Given the description of an element on the screen output the (x, y) to click on. 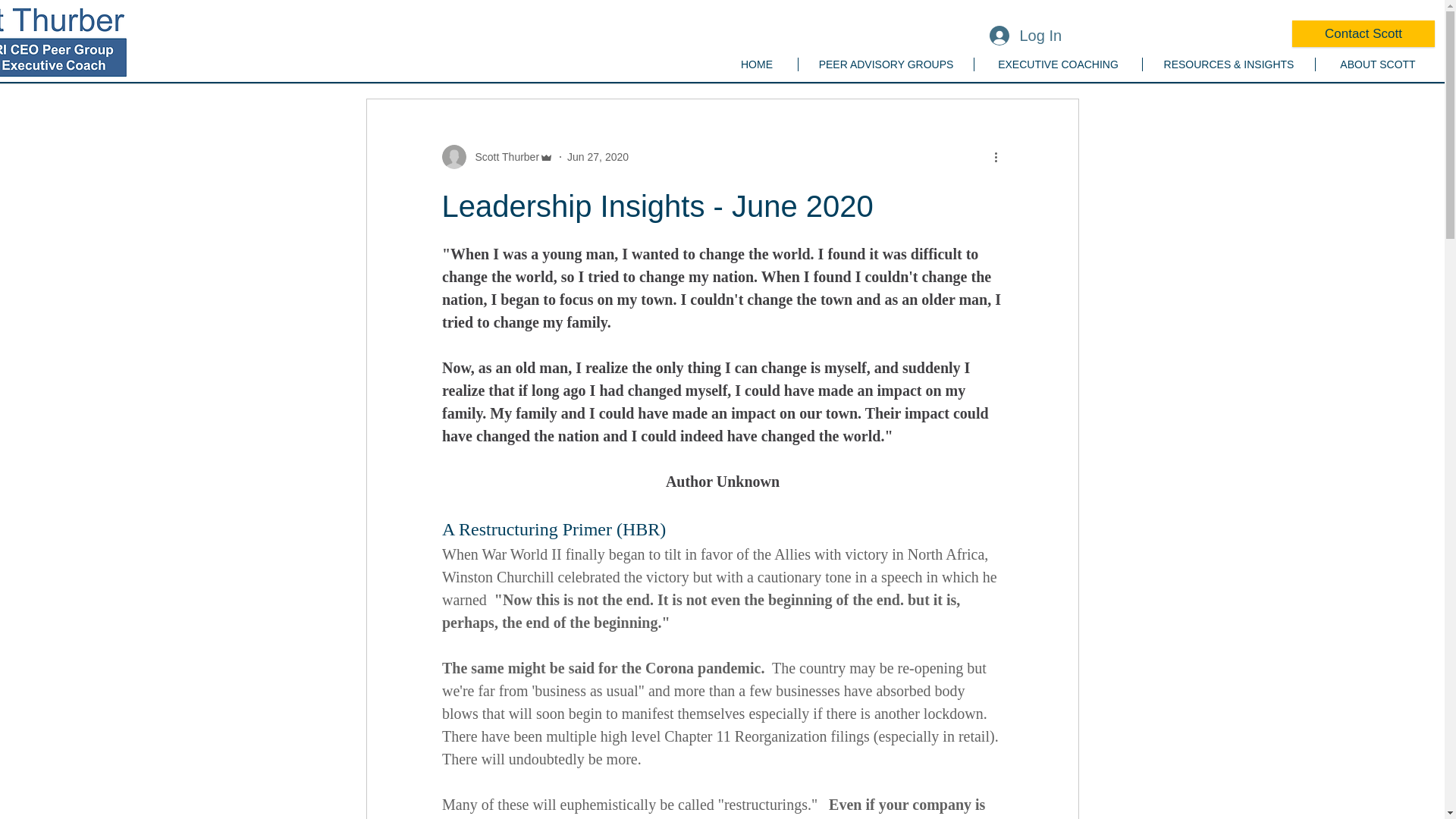
PEER ADVISORY GROUPS (885, 64)
HOME (756, 64)
EXECUTIVE COACHING (1057, 64)
Scott Thurber (501, 156)
ABOUT SCOTT (1377, 64)
Jun 27, 2020 (597, 155)
Contact Scott (1363, 33)
Log In (1023, 34)
Scott Thurber (497, 156)
